Given the description of an element on the screen output the (x, y) to click on. 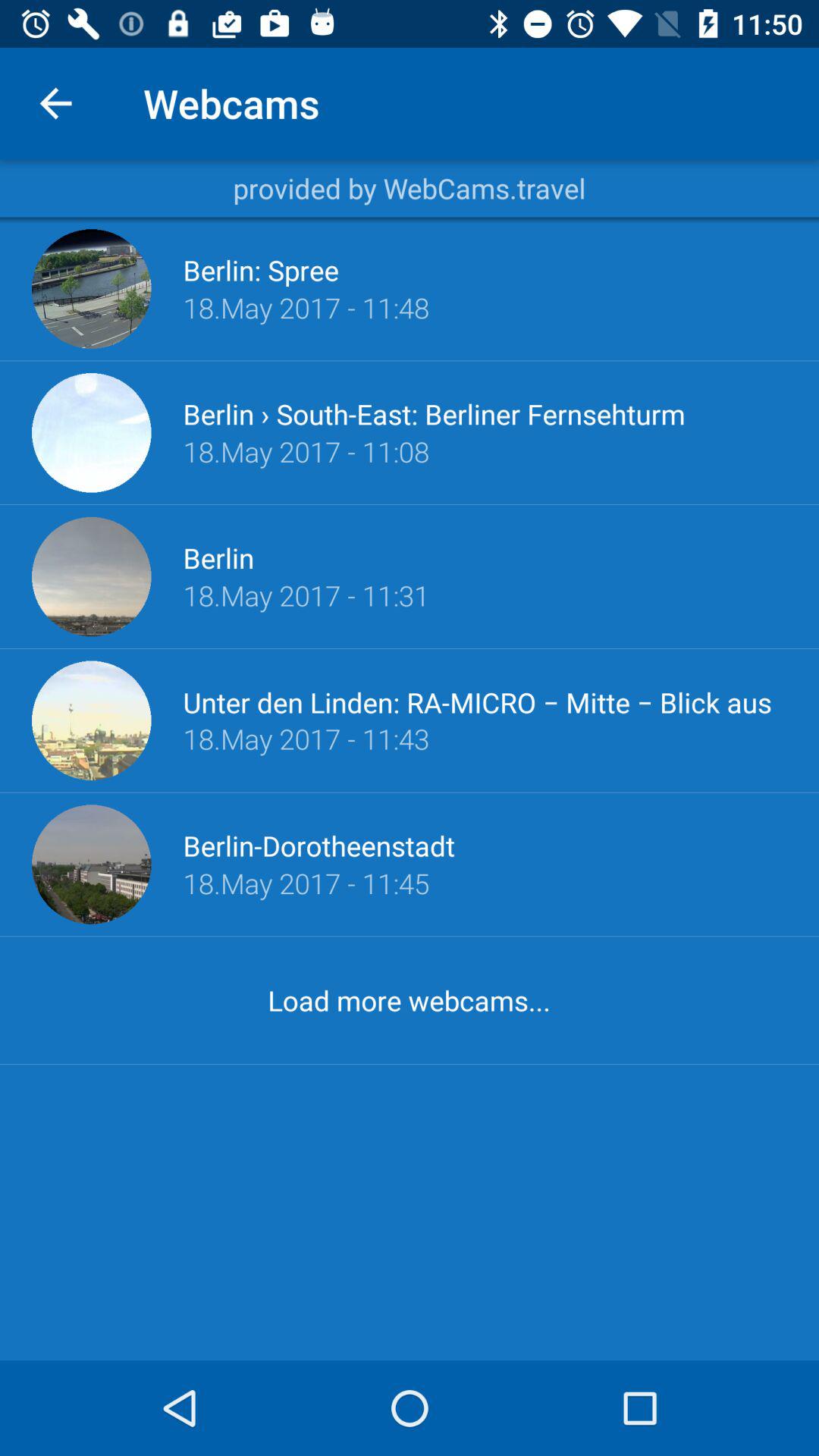
launch the item above 18 may 2017 (319, 845)
